Given the description of an element on the screen output the (x, y) to click on. 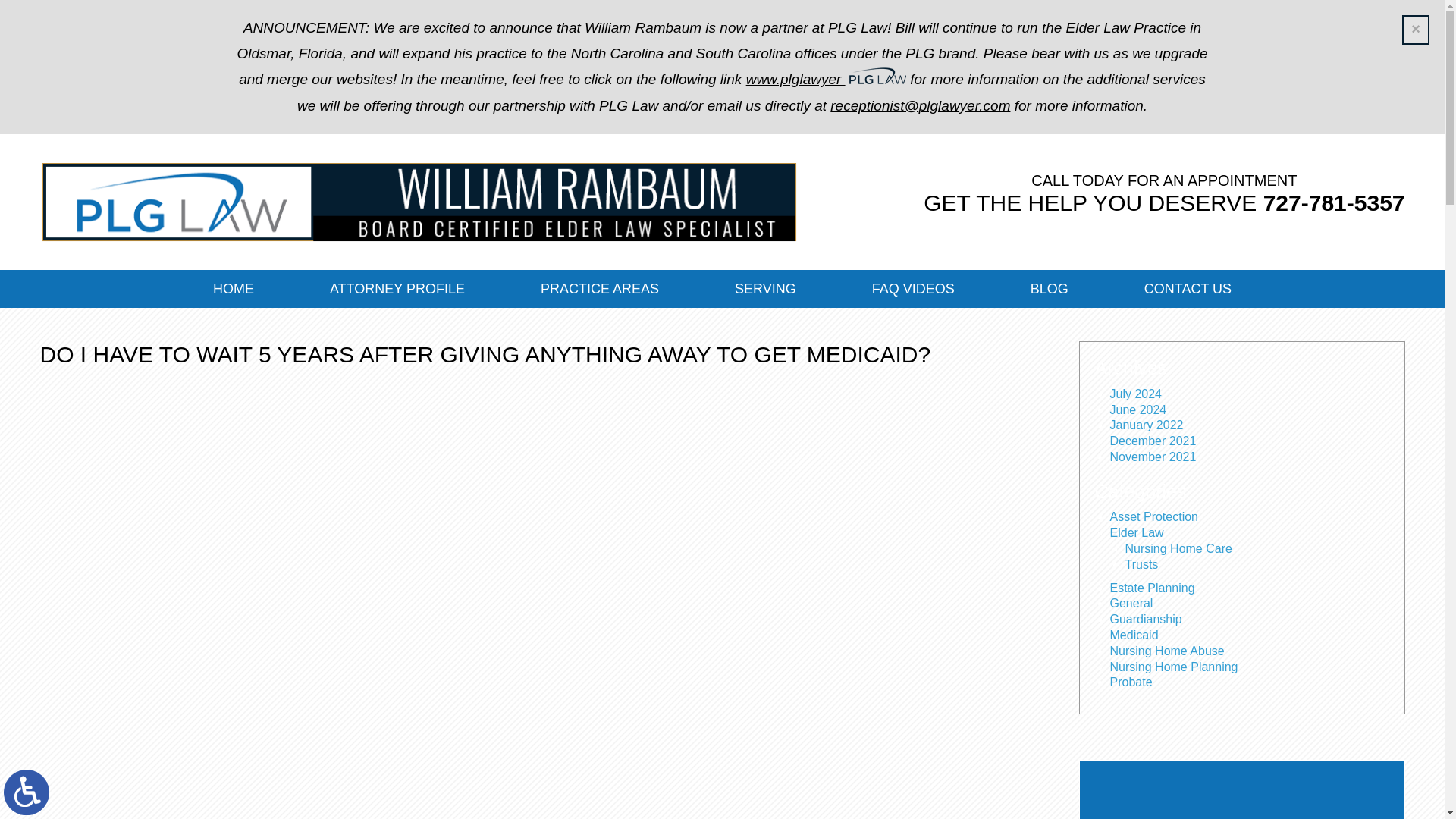
HOME (233, 288)
ATTORNEY PROFILE (397, 288)
BLOG (1049, 288)
www.plglawyer (795, 78)
July 2024 (1135, 393)
FAQ VIDEOS (913, 288)
SERVING (765, 288)
727-781-5357 (1334, 202)
June 2024 (1138, 409)
CONTACT US (1187, 288)
PRACTICE AREAS (599, 288)
